Given the description of an element on the screen output the (x, y) to click on. 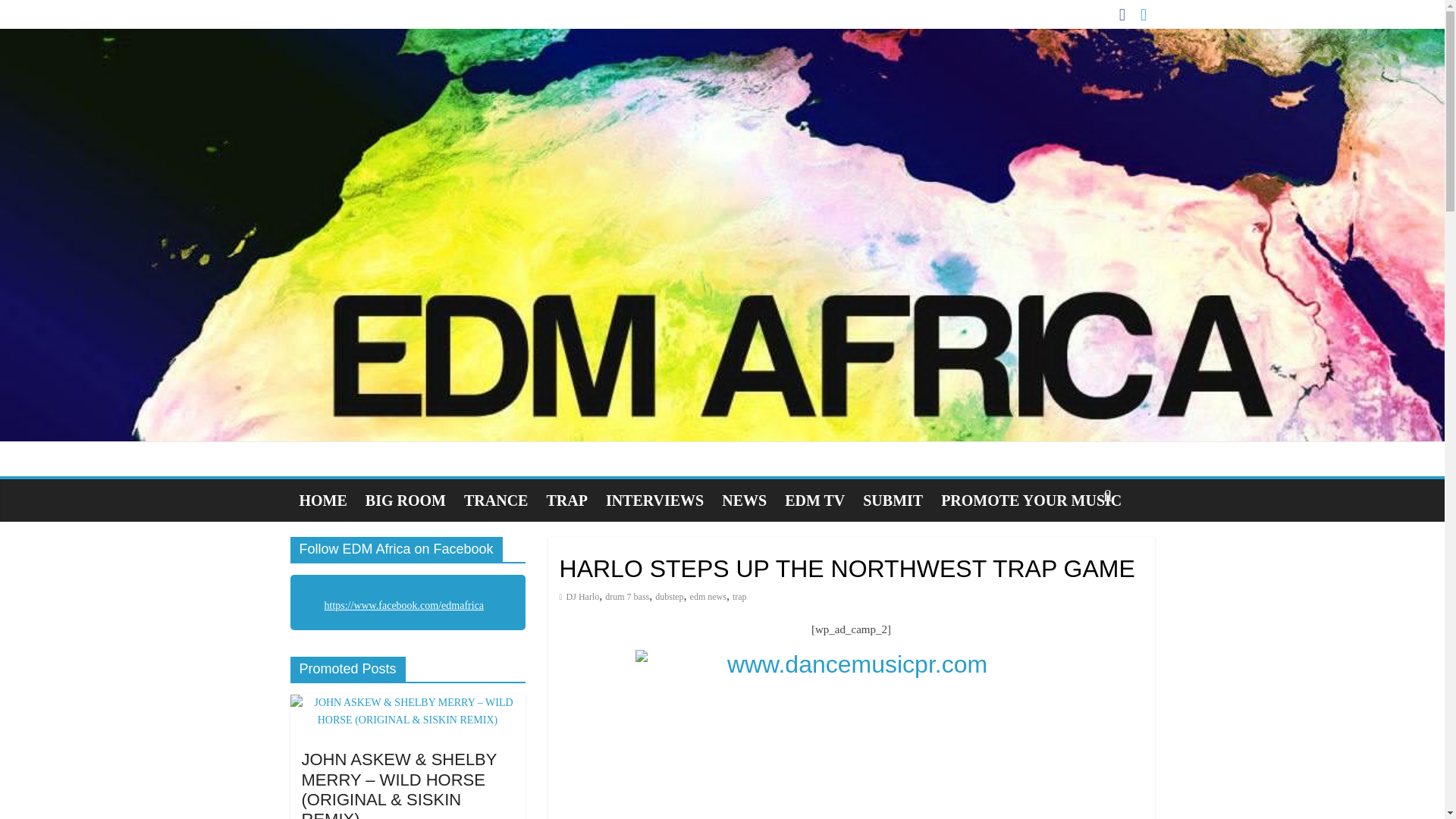
BIG ROOM (405, 500)
drum 7 bass (627, 596)
TRANCE (495, 500)
edm news (708, 596)
SUBMIT (892, 500)
DJ Harlo (582, 596)
trap (739, 596)
NEWS (744, 500)
HOME (322, 500)
PROMOTE YOUR MUSIC (1031, 500)
